Given the description of an element on the screen output the (x, y) to click on. 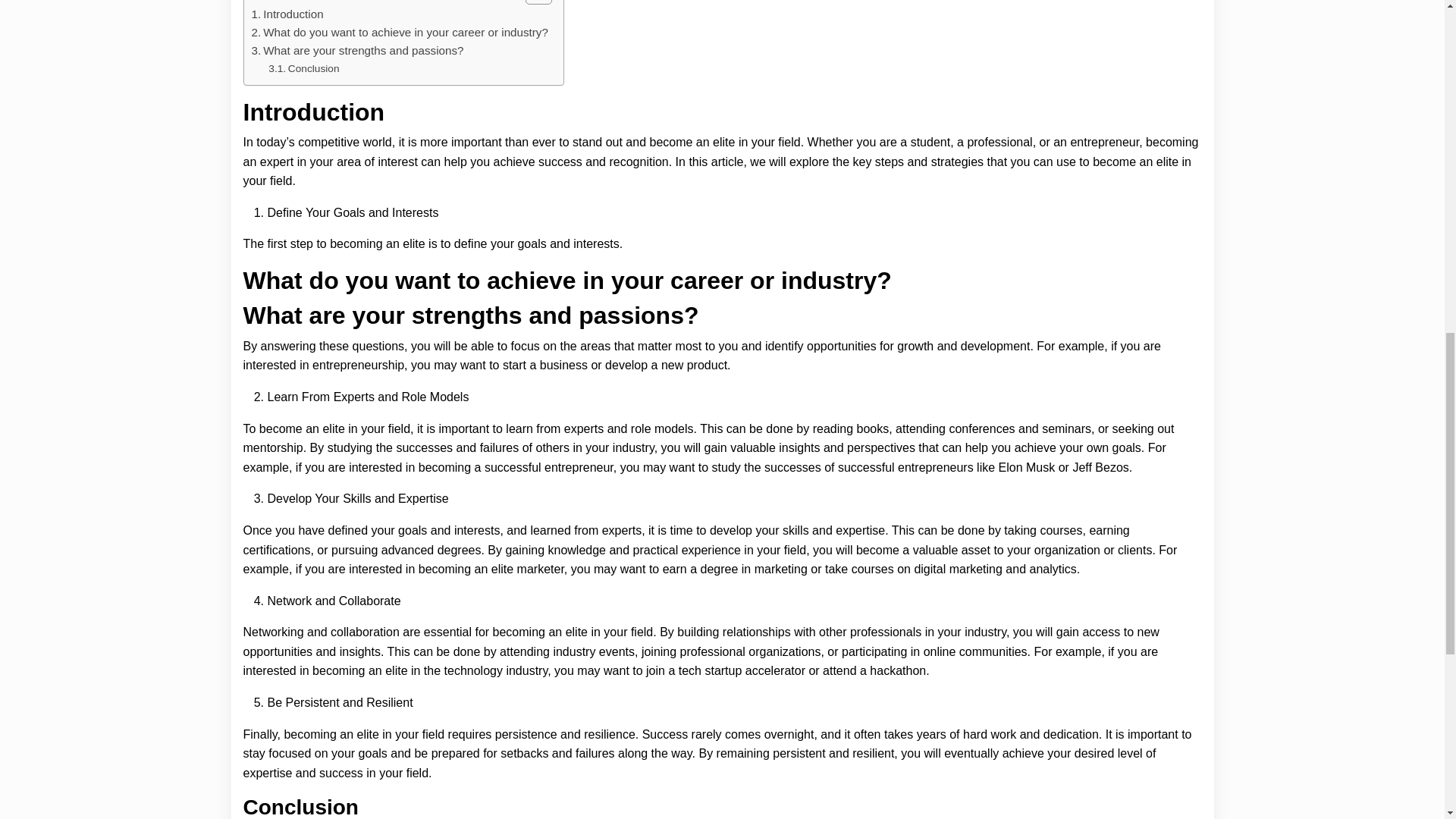
What do you want to achieve in your career or industry? (399, 32)
Conclusion (303, 68)
What are your strengths and passions? (357, 50)
What are your strengths and passions? (357, 50)
Introduction (287, 13)
Conclusion (303, 68)
Introduction (287, 13)
What do you want to achieve in your career or industry? (399, 32)
